Given the description of an element on the screen output the (x, y) to click on. 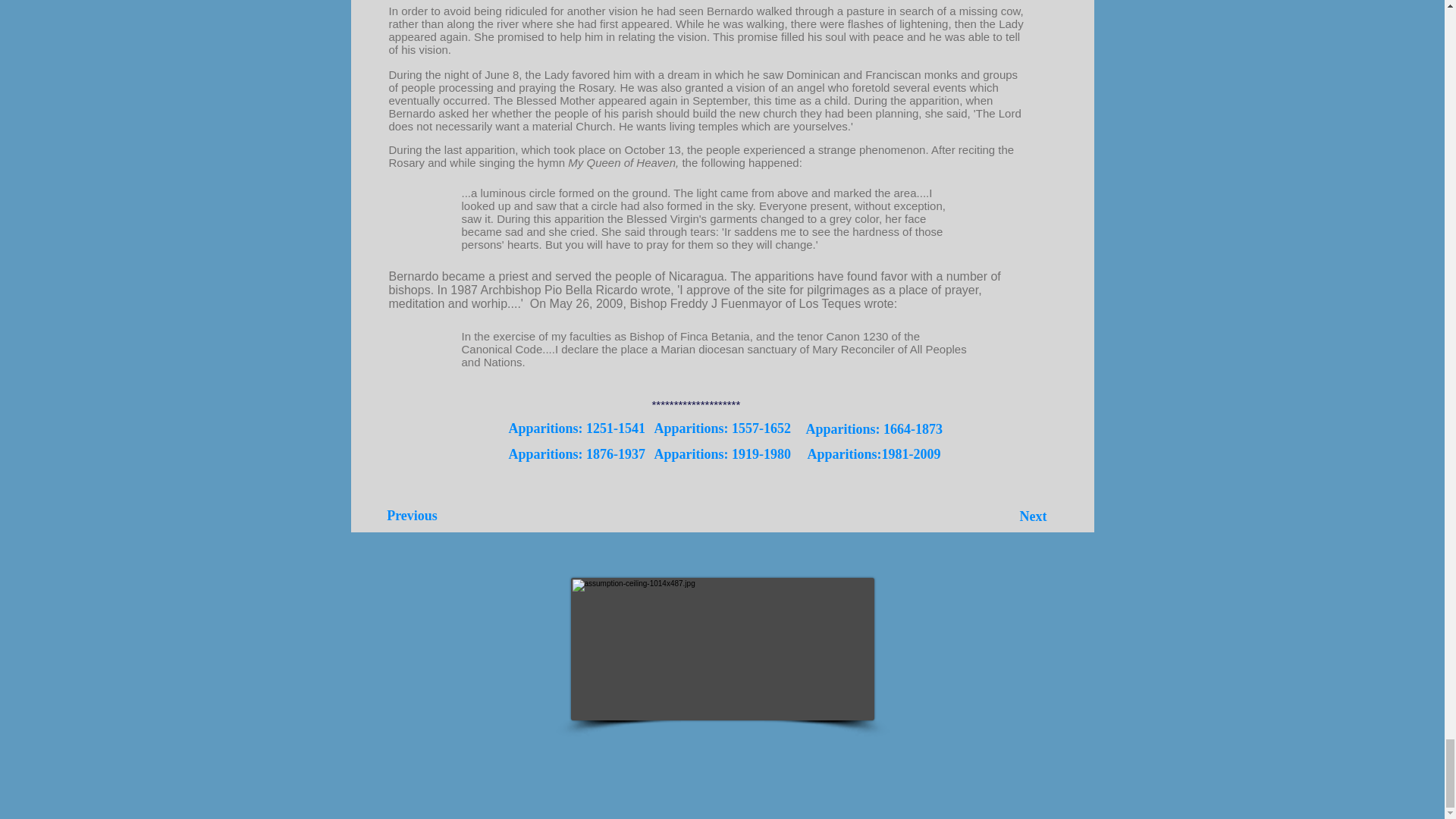
Previous (411, 516)
Apparitions: 1251-1541 (576, 428)
Next (1033, 517)
Apparitions: 1557-1652 (721, 428)
Apparitions:1981-2009 (873, 455)
Apparitions: 1919-1980 (721, 455)
Apparitions: 1876-1937 (576, 455)
Apparitions: 1664-1873 (873, 429)
